Given the description of an element on the screen output the (x, y) to click on. 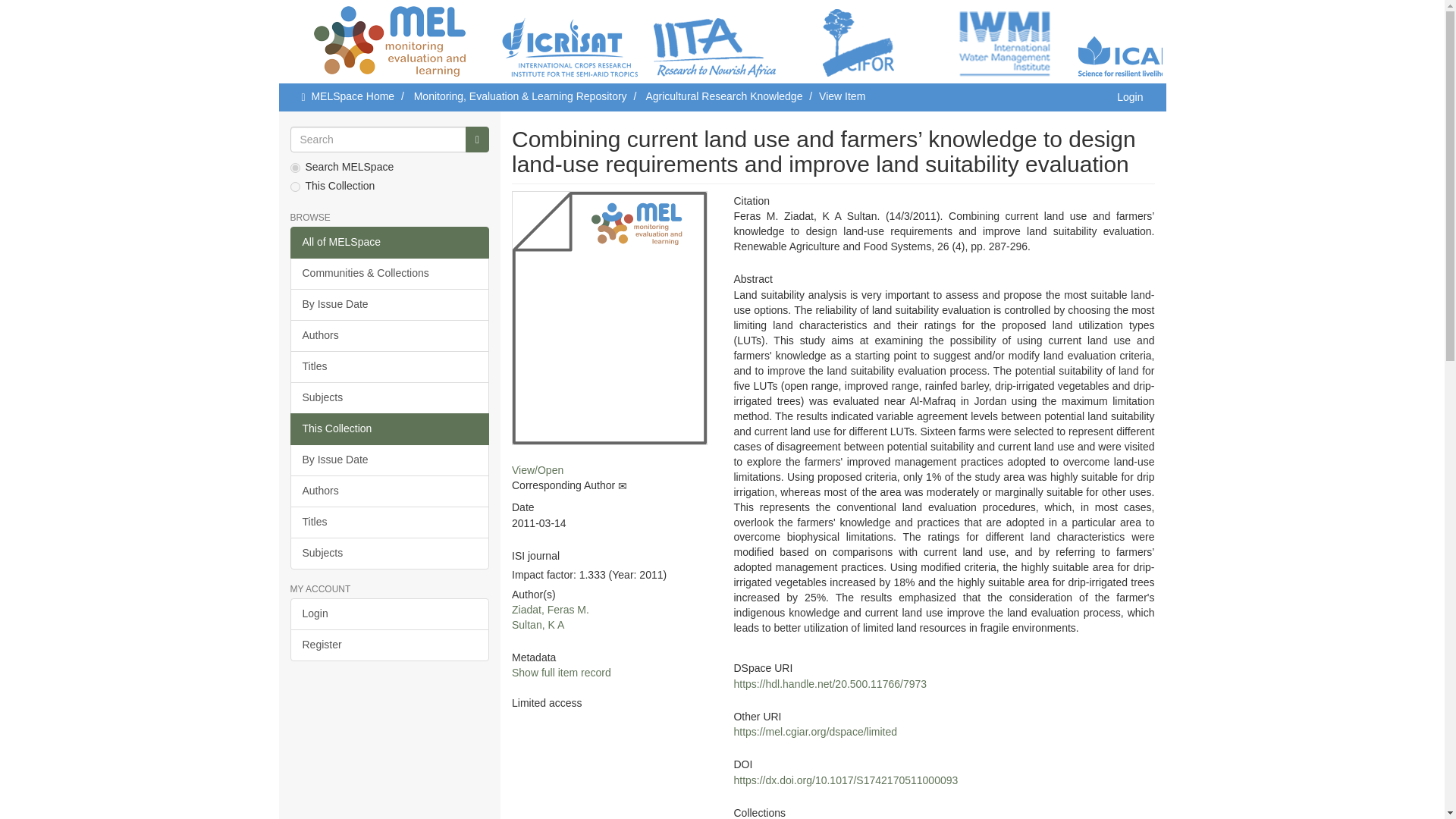
By Issue Date (389, 305)
Titles (389, 367)
Register (389, 644)
Sultan, K A (538, 624)
MELSpace Home (352, 96)
Go (477, 139)
Show full item record (561, 672)
Login (389, 613)
Authors (389, 336)
Agricultural Research Knowledge (723, 96)
